Given the description of an element on the screen output the (x, y) to click on. 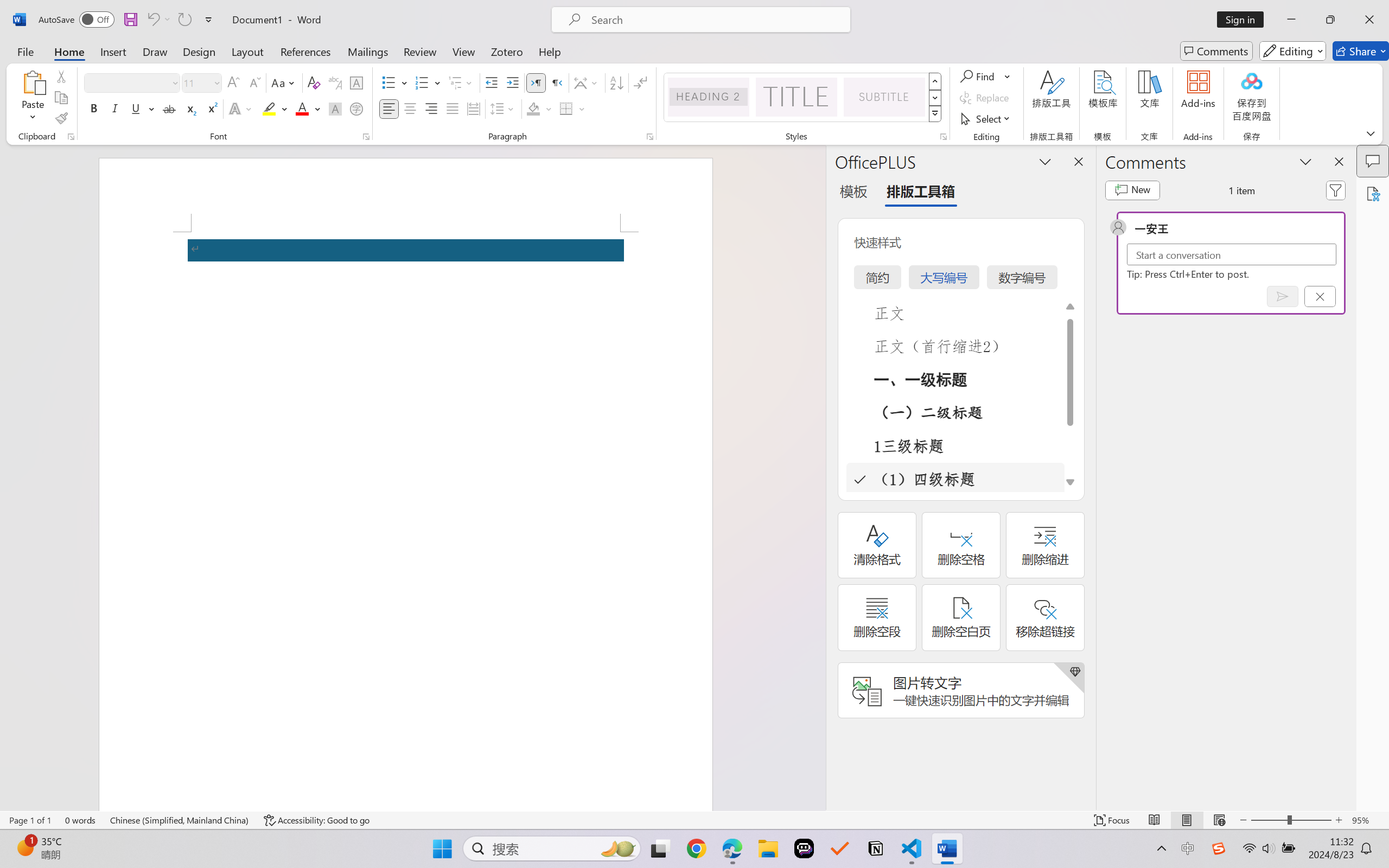
Undo Apply Quick Style Set (158, 19)
